Given the description of an element on the screen output the (x, y) to click on. 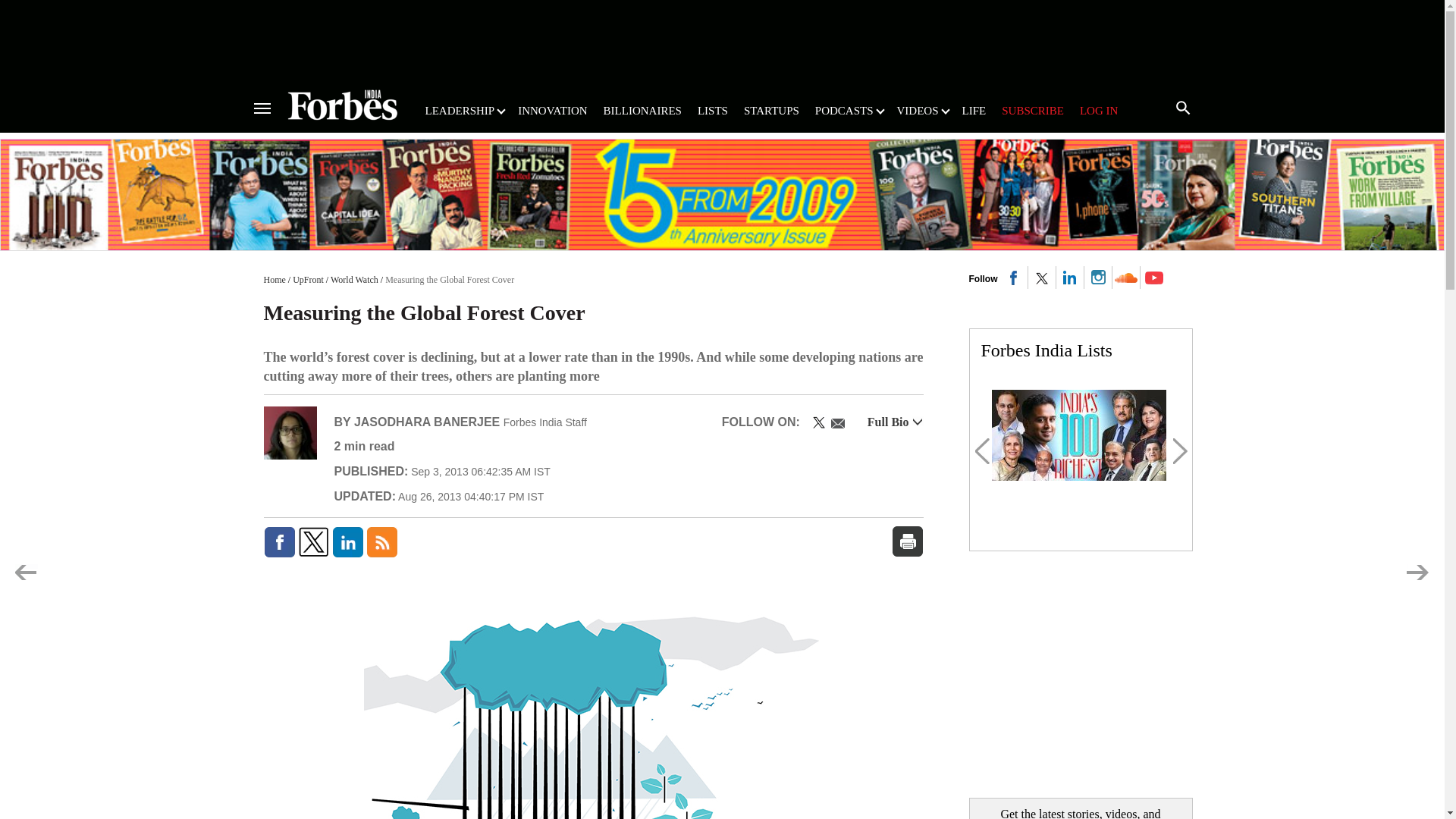
India Rich List 2022 (1078, 434)
Measuring the Global Forest Cover (593, 701)
Jasodhara Banerjee (290, 432)
3rd party ad content (721, 39)
